Given the description of an element on the screen output the (x, y) to click on. 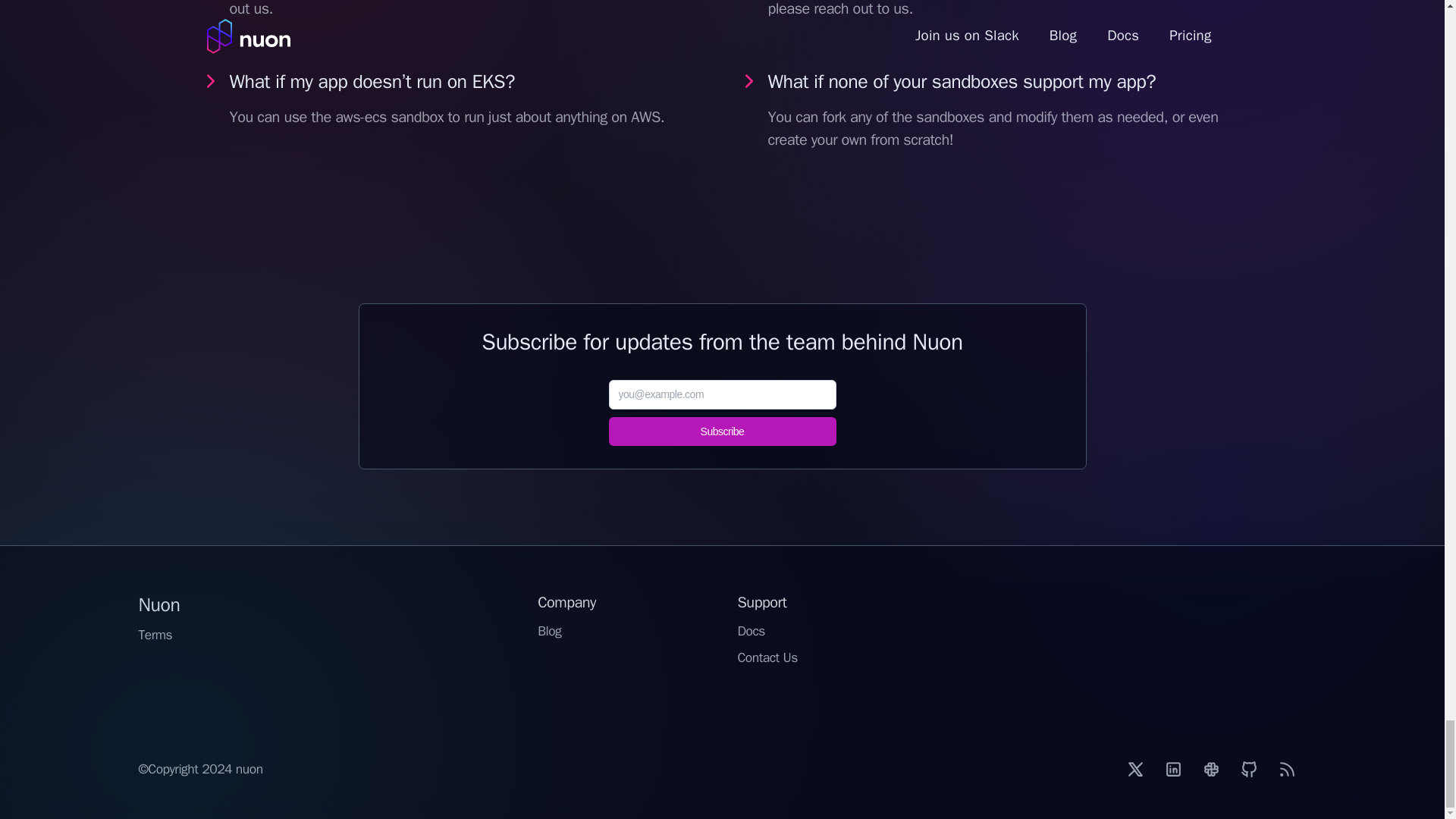
Blog (548, 630)
Subscribe (721, 430)
Terms (154, 634)
Nuon (158, 604)
Contact Us (766, 657)
Docs (750, 630)
